Given the description of an element on the screen output the (x, y) to click on. 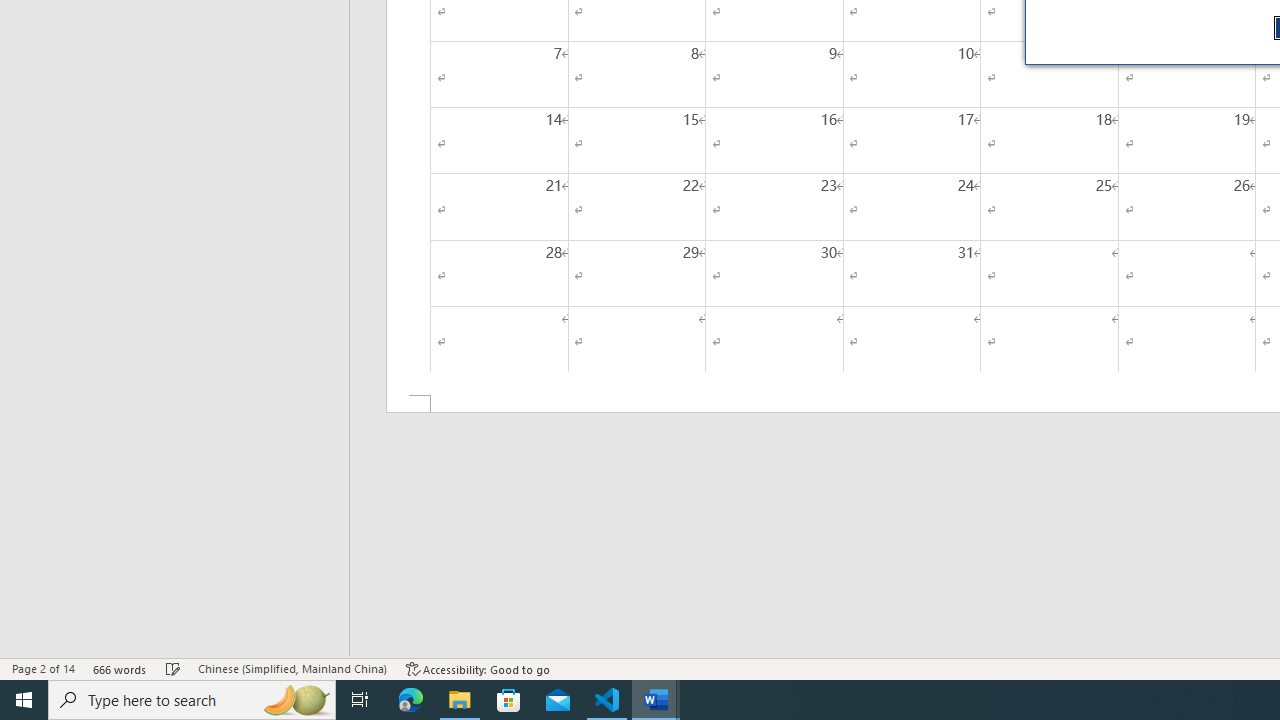
Type here to search (191, 699)
